Given the description of an element on the screen output the (x, y) to click on. 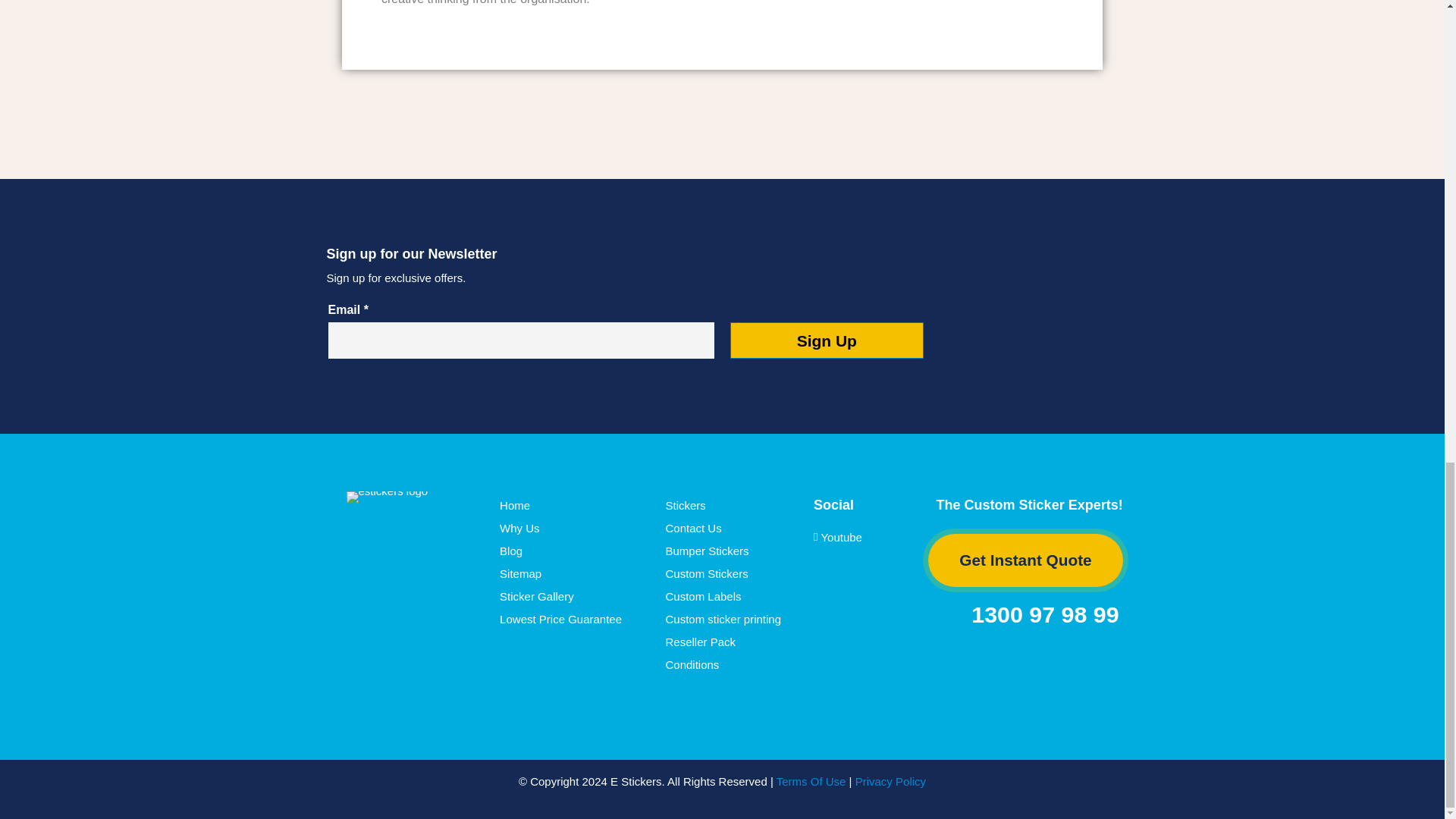
cc support (1044, 664)
Sign Up (826, 340)
1300 97 98 99 (1029, 614)
estickers logo (387, 497)
